Given the description of an element on the screen output the (x, y) to click on. 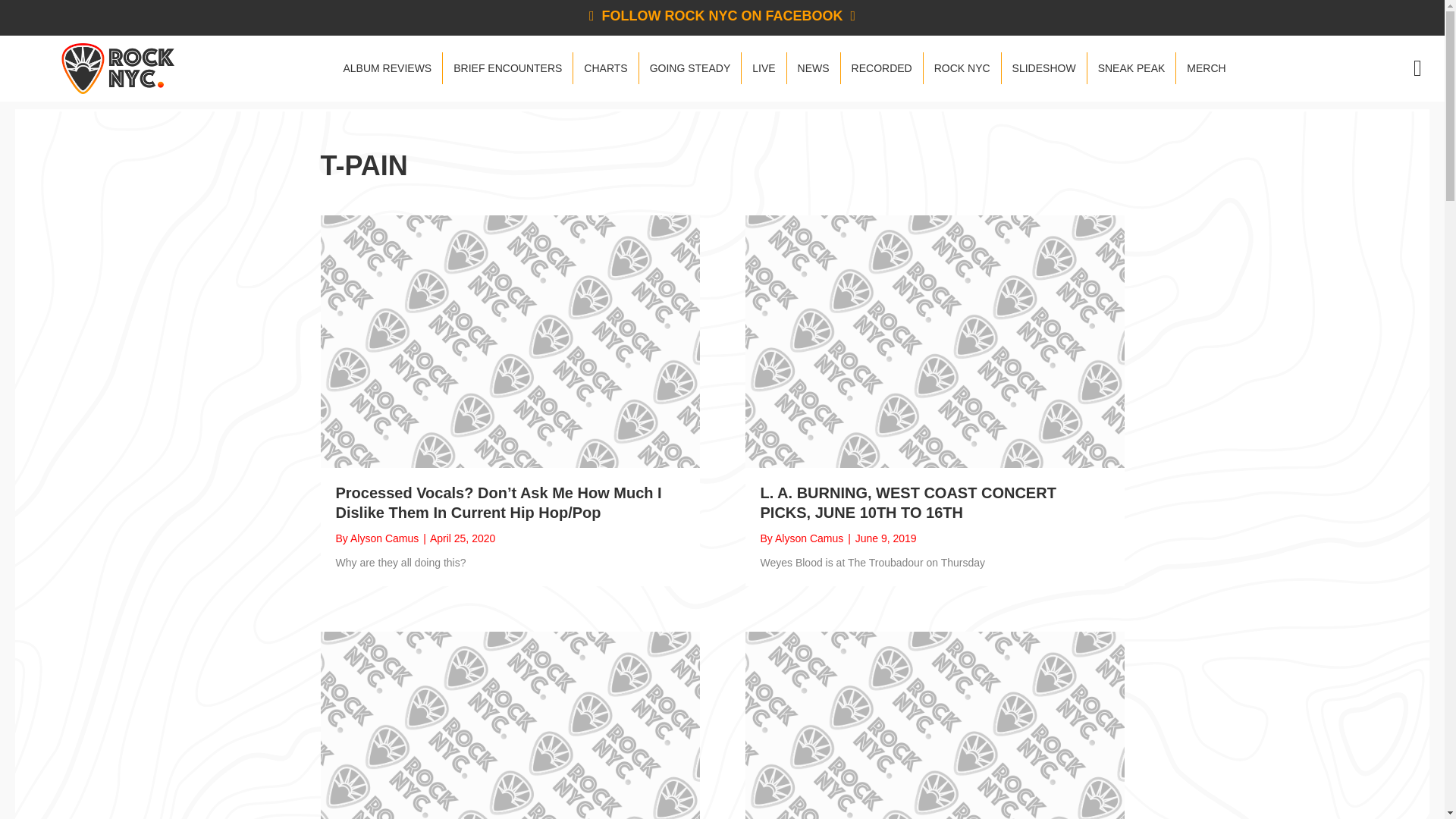
ALBUM REVIEWS (386, 68)
ROCK NYC (962, 68)
SNEAK PEAK (1131, 68)
GOING STEADY (690, 68)
L. A. BURNING, WEST COAST CONCERT PICKS, JUNE 10TH TO 16TH (934, 340)
MERCH (1206, 68)
LIVE (763, 68)
SLIDESHOW (1043, 68)
NEWS (813, 68)
Alyson Camus (808, 538)
Alyson Camus (384, 538)
L. A. BURNING, WEST COAST CONCERT PICKS, JUNE 10TH TO 16TH (907, 502)
 FOLLOW ROCK NYC ON FACEBOOK   (722, 15)
T-Pain releases new album 1UP (934, 757)
CHARTS (605, 68)
